Given the description of an element on the screen output the (x, y) to click on. 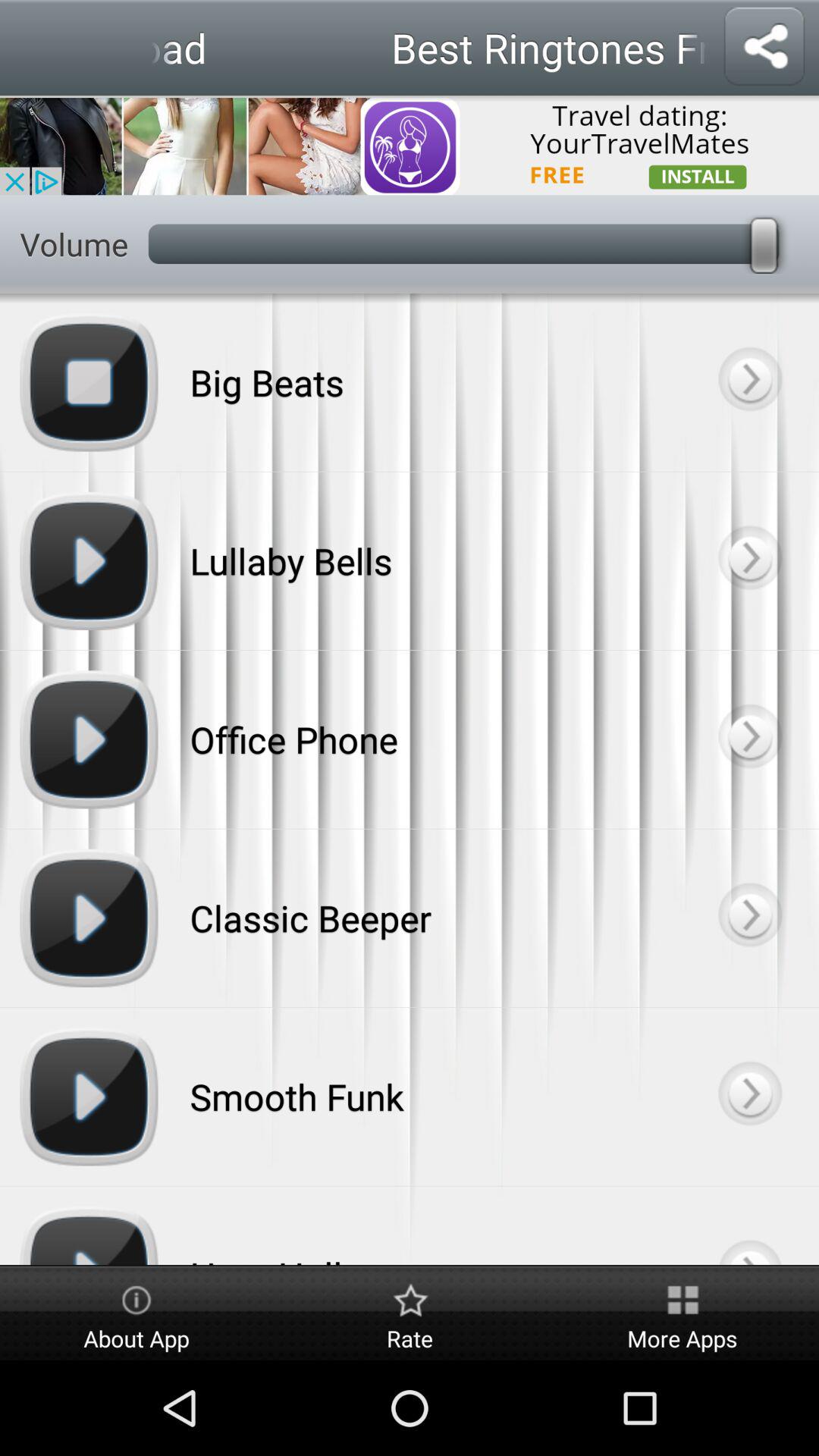
office phone ringtone option (749, 739)
